Given the description of an element on the screen output the (x, y) to click on. 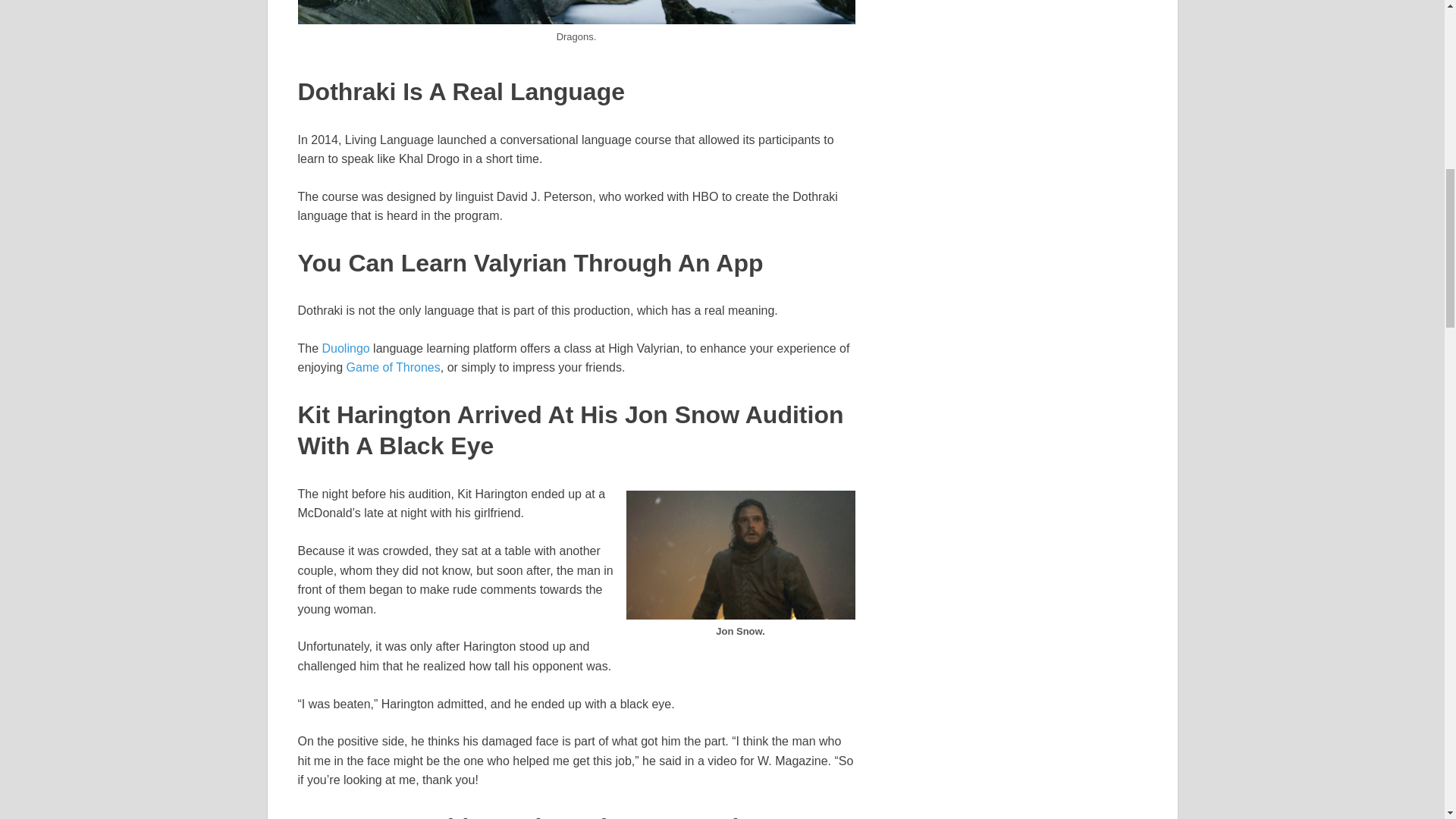
Game of Thrones (393, 367)
Duolingo (345, 348)
